Given the description of an element on the screen output the (x, y) to click on. 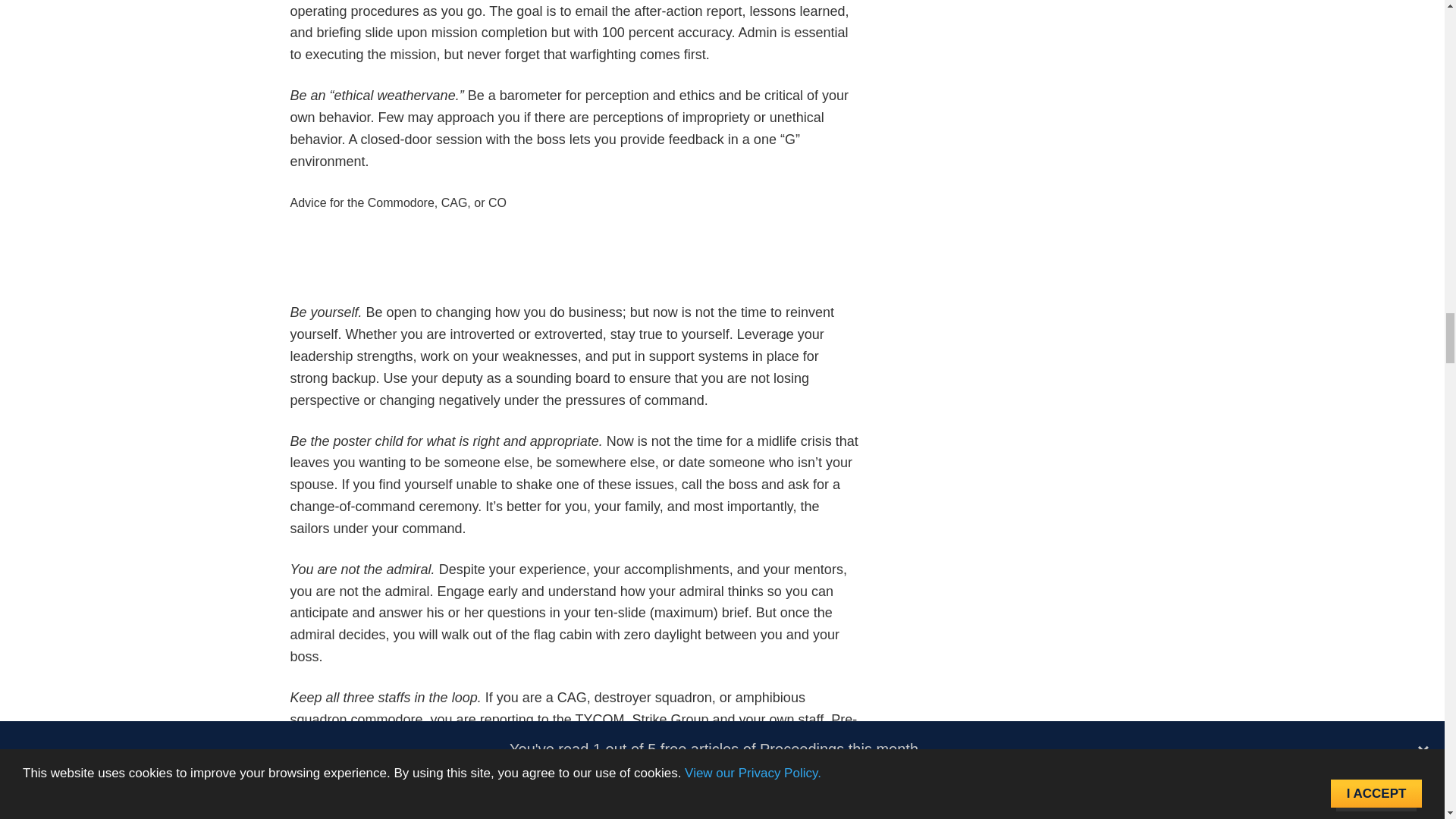
3rd party ad content (574, 266)
